Given the description of an element on the screen output the (x, y) to click on. 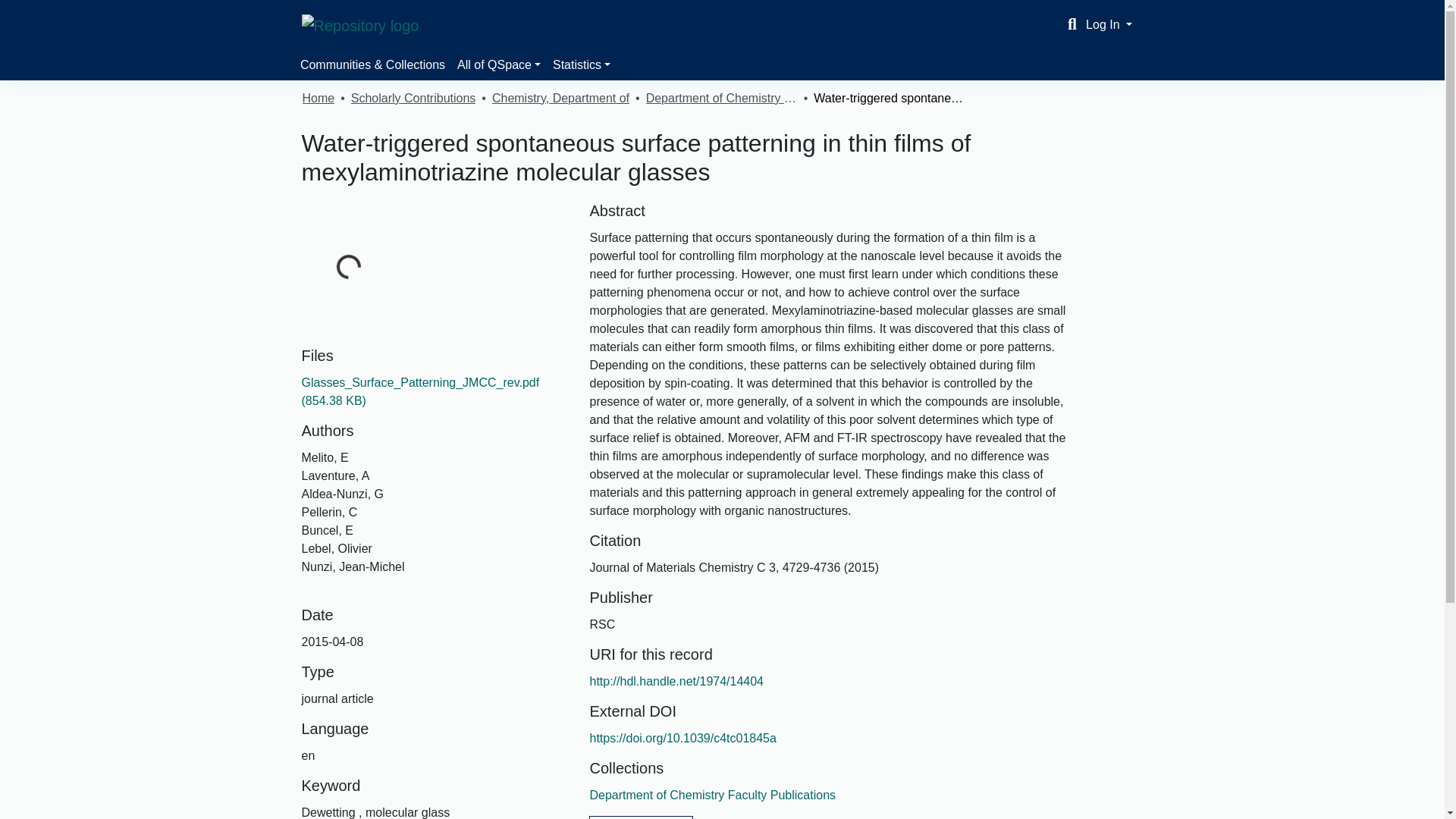
Home (317, 98)
Search (1072, 24)
Chemistry, Department of (560, 98)
Statistics (581, 64)
Department of Chemistry Faculty Publications (721, 98)
Department of Chemistry Faculty Publications (712, 794)
Scholarly Contributions (413, 98)
Full item page (641, 817)
All of QSpace (499, 64)
Log In (1108, 24)
